Given the description of an element on the screen output the (x, y) to click on. 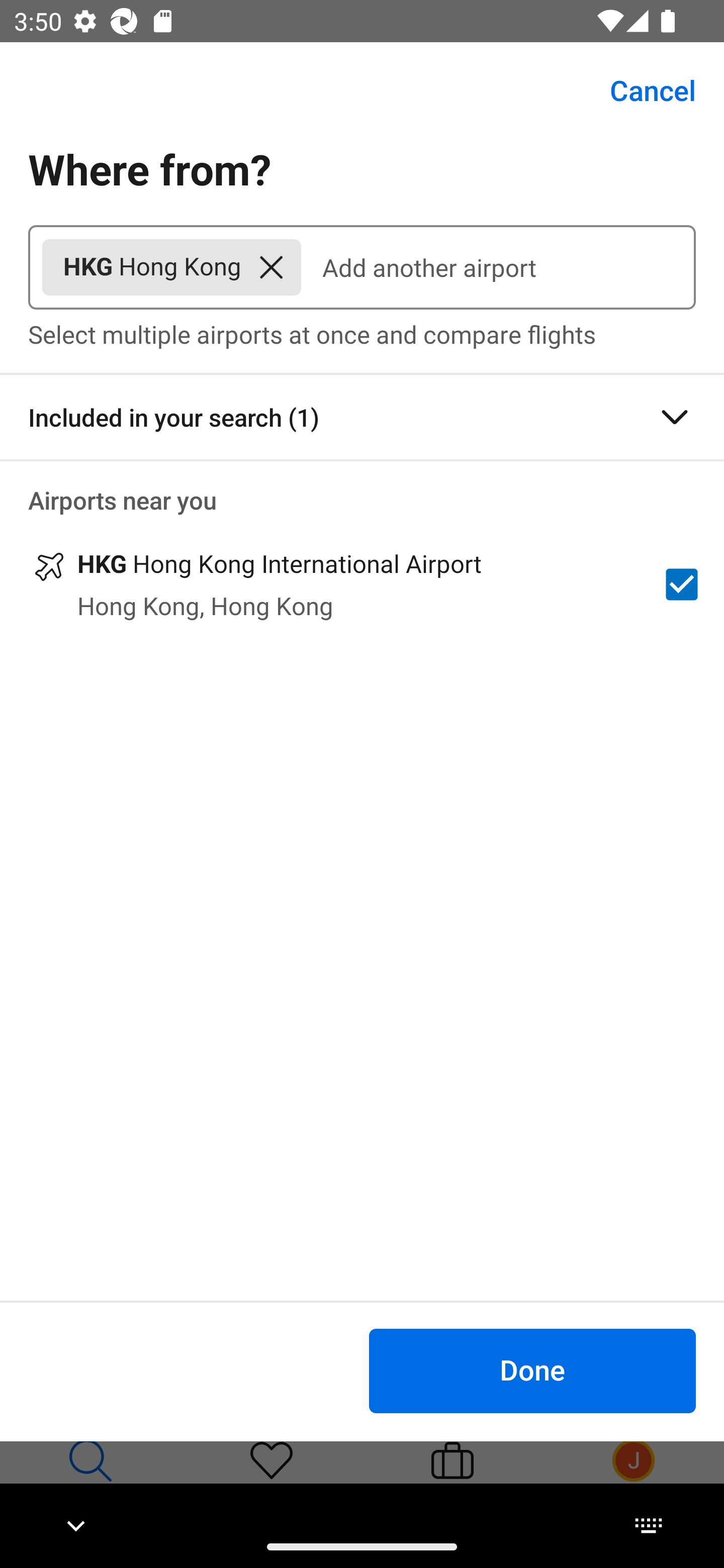
Cancel (641, 90)
Add another airport (498, 266)
HKG Hong Kong Remove HKG Hong Kong (171, 266)
Included in your search (1) (362, 416)
Done (532, 1370)
